Given the description of an element on the screen output the (x, y) to click on. 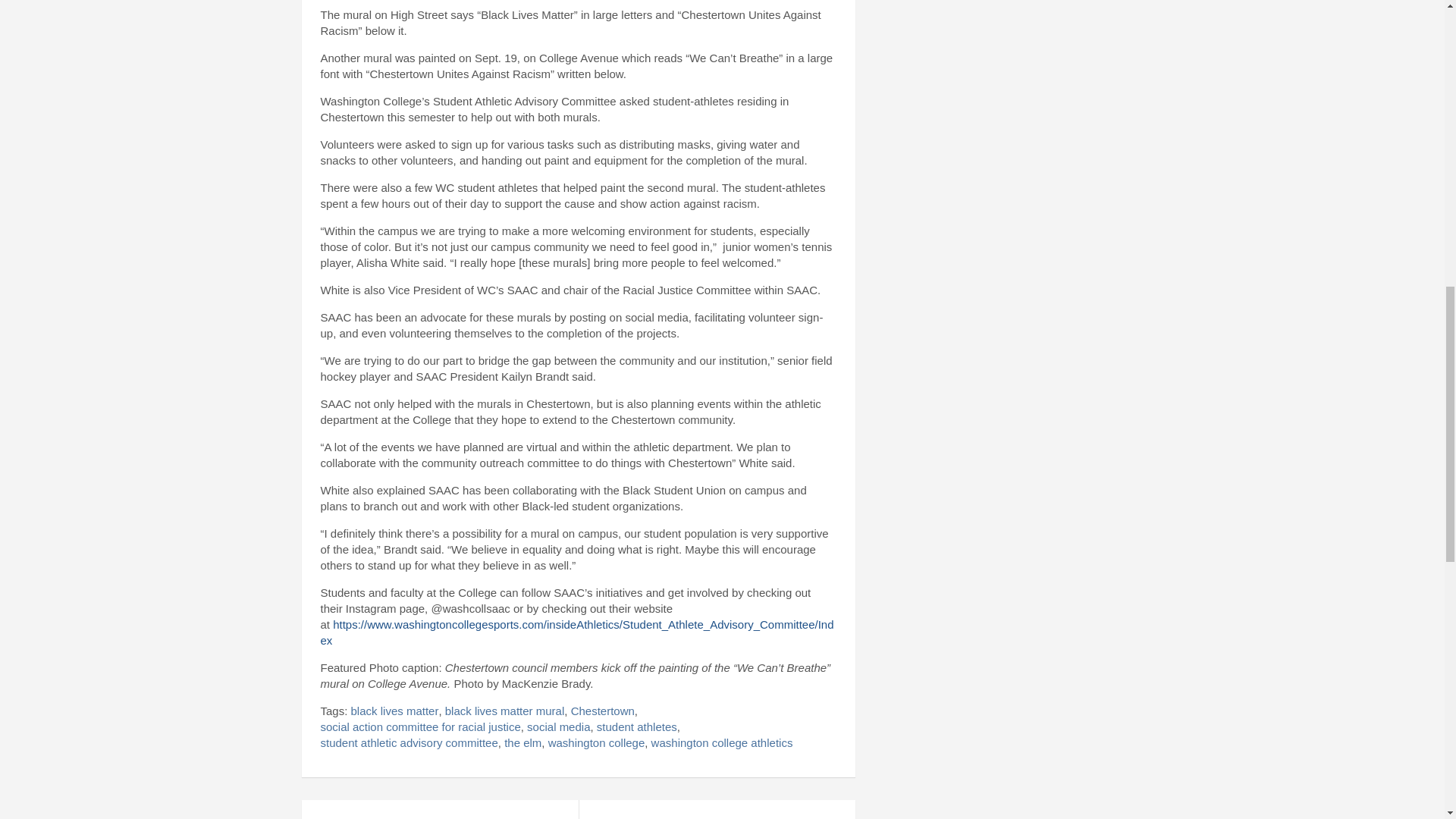
the elm (522, 742)
washington college athletics (721, 742)
social action committee for racial justice (419, 726)
black lives matter mural (504, 710)
washington college (596, 742)
student athletes (636, 726)
social media (558, 726)
black lives matter (394, 710)
student athletic advisory committee (408, 742)
Chestertown (602, 710)
